Given the description of an element on the screen output the (x, y) to click on. 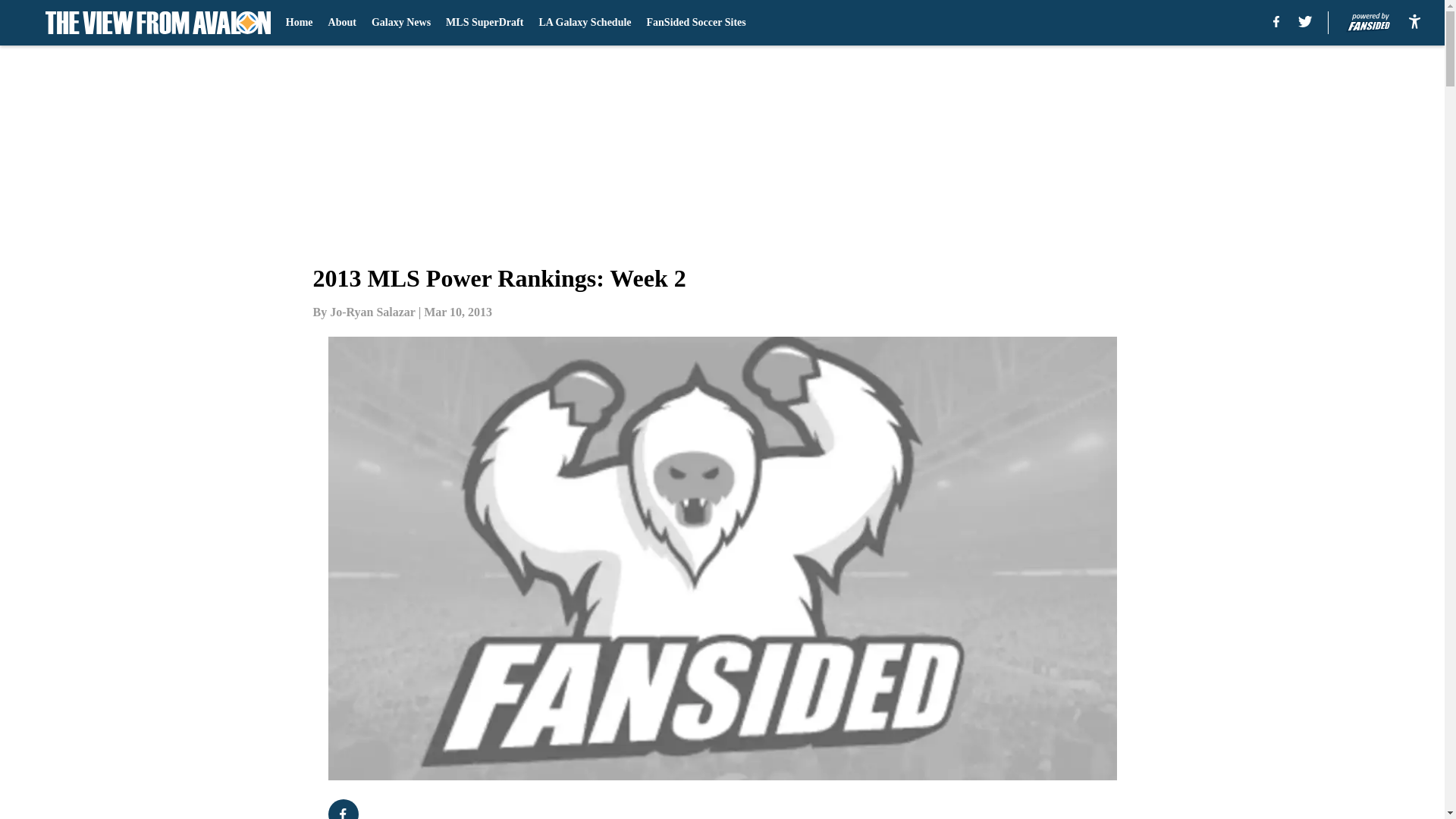
MLS SuperDraft (483, 22)
LA Galaxy Schedule (584, 22)
FanSided Soccer Sites (695, 22)
Galaxy News (400, 22)
Home (299, 22)
About (342, 22)
